Given the description of an element on the screen output the (x, y) to click on. 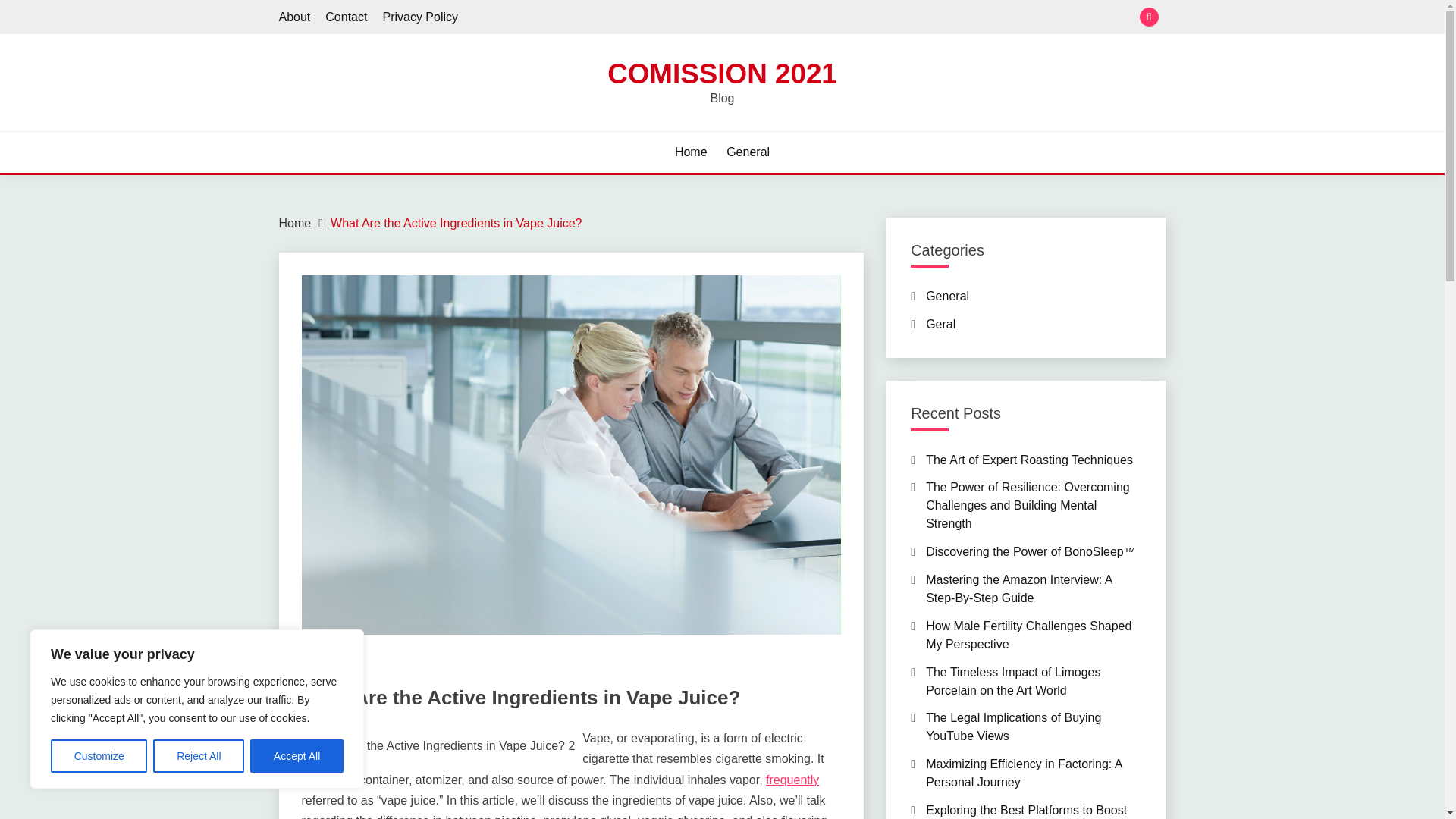
What Are the Active Ingredients in Vape Juice? (455, 223)
Home (295, 223)
Reject All (198, 756)
COMISSION 2021 (722, 73)
General (748, 152)
Home (691, 152)
frequently (791, 779)
About (295, 16)
Privacy Policy (419, 16)
Contact (345, 16)
Accept All (296, 756)
Customize (98, 756)
General (321, 669)
